Given the description of an element on the screen output the (x, y) to click on. 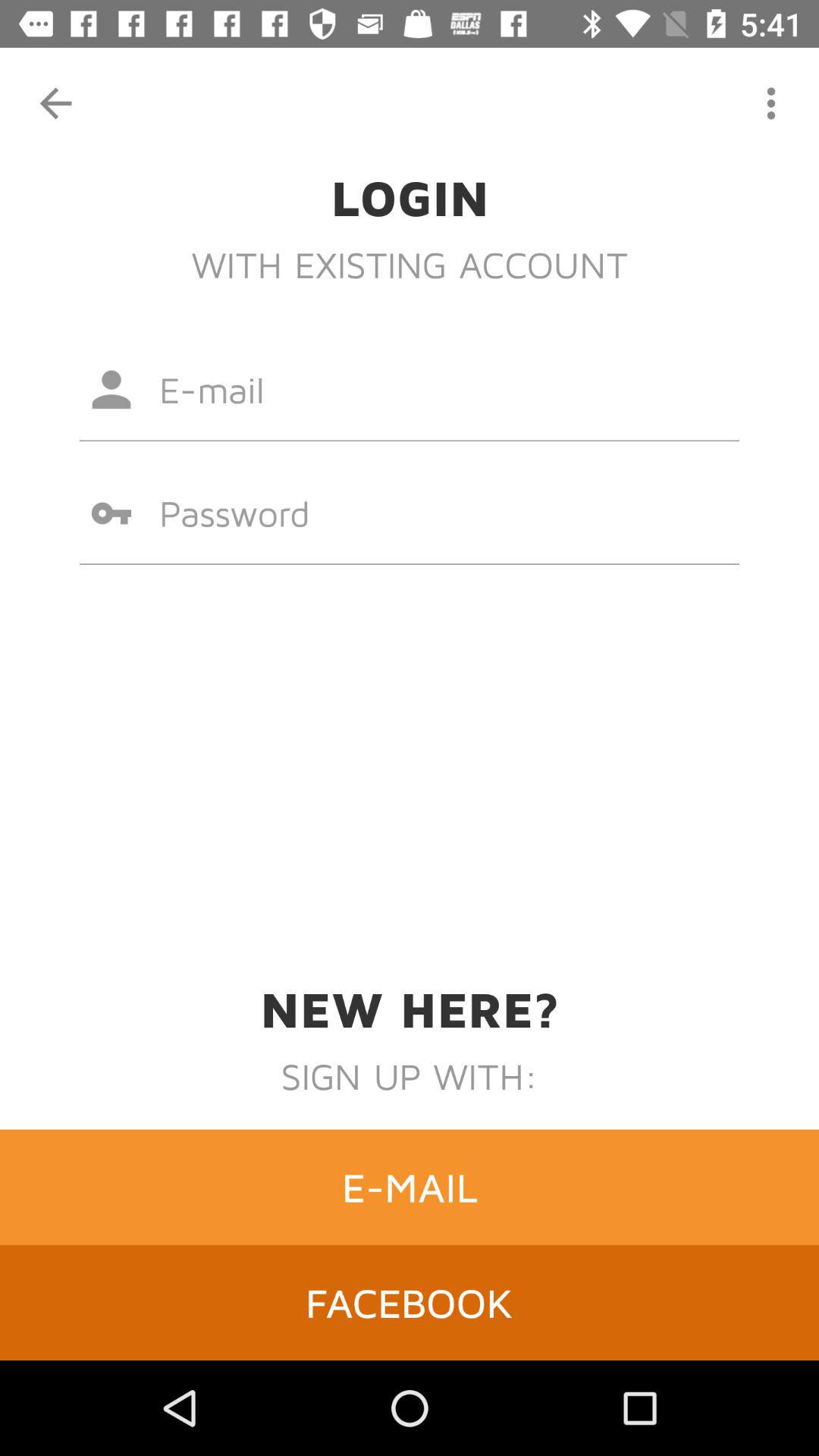
tap item below with existing account icon (409, 389)
